Given the description of an element on the screen output the (x, y) to click on. 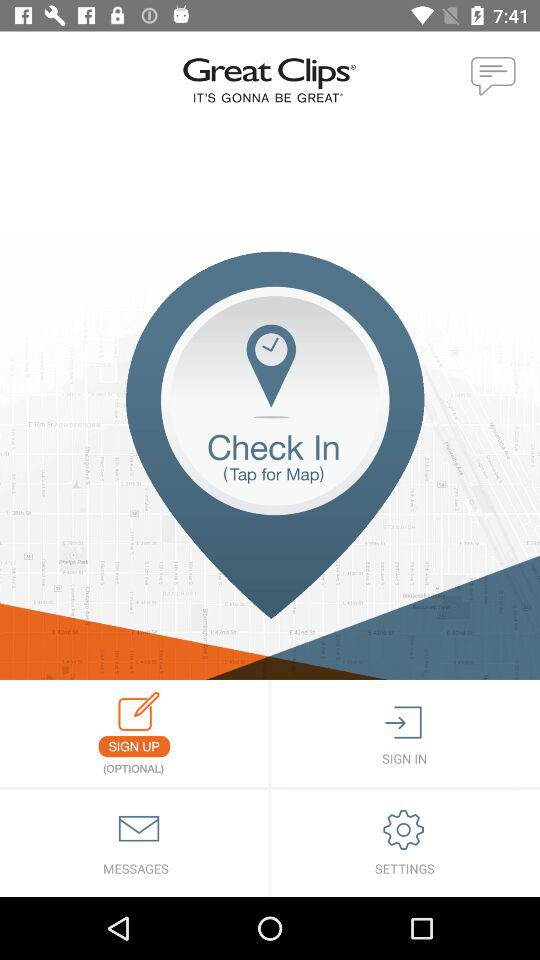
open sign in page (405, 733)
